Given the description of an element on the screen output the (x, y) to click on. 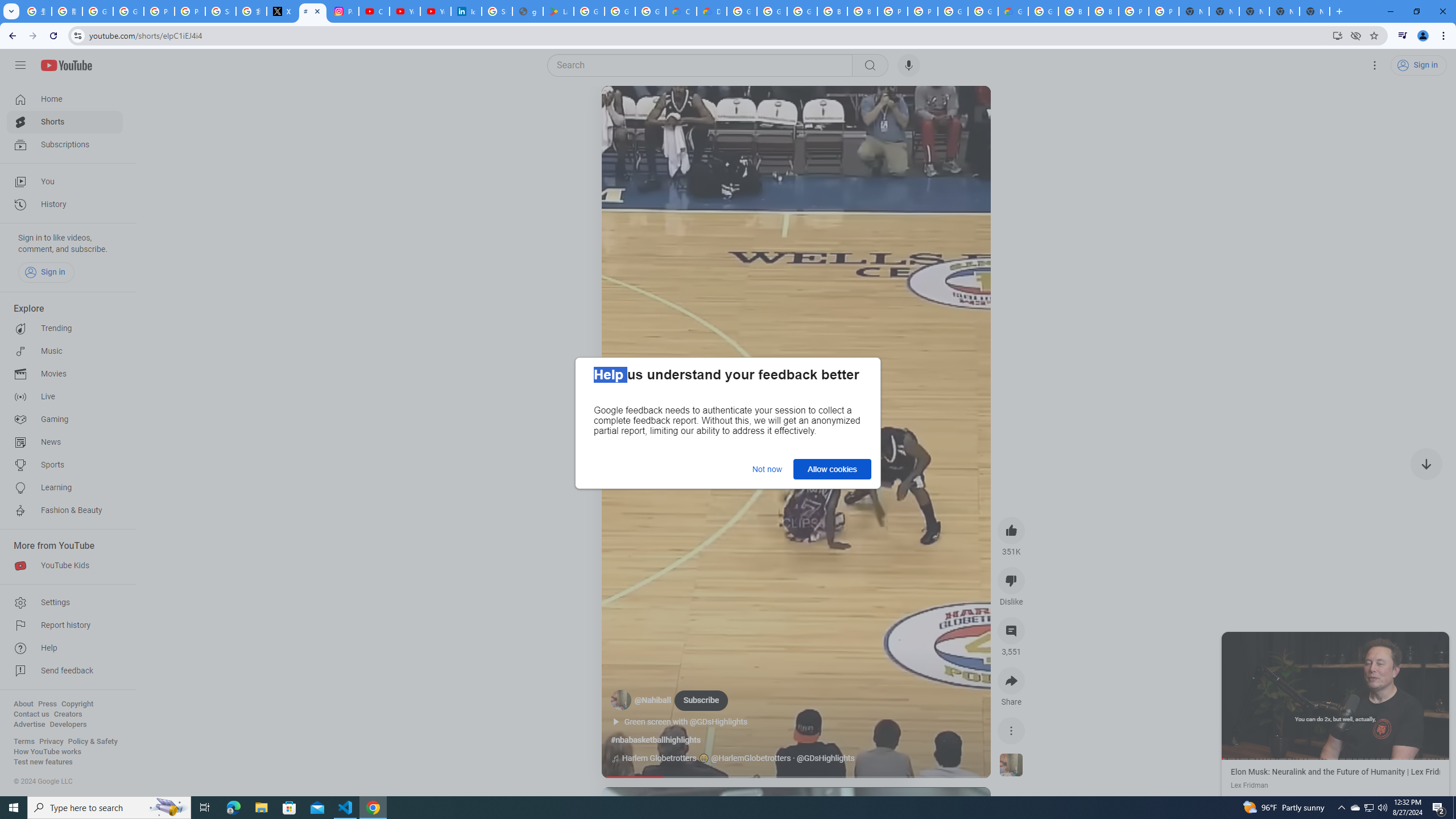
Install YouTube (1336, 35)
About (23, 703)
Customer Care | Google Cloud (681, 11)
Guide (20, 65)
Expand (i) (1232, 643)
Copyright (77, 703)
Google Cloud Platform (741, 11)
Policy & Safety (91, 741)
New Tab (1314, 11)
Subscribe (701, 700)
@Nahiball (653, 700)
